Given the description of an element on the screen output the (x, y) to click on. 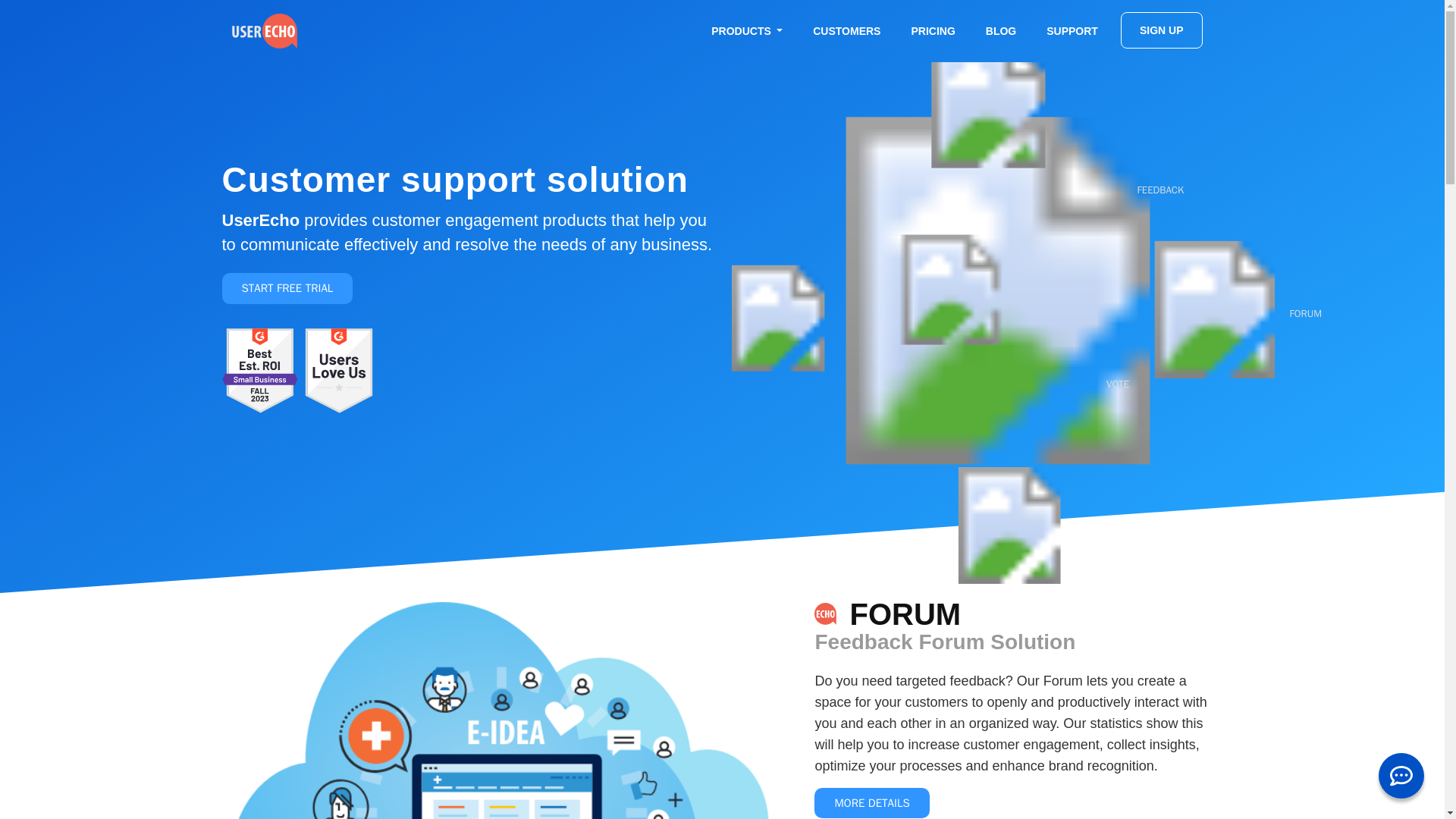
SIGN UP (1161, 30)
Users love UserEcho on G2 (339, 369)
UserEcho is a leader in Small-Business Help Desk on G2 (259, 369)
CUSTOMERS (846, 30)
PRODUCTS (746, 30)
MORE DETAILS (870, 803)
PRICING (932, 30)
START FREE TRIAL (286, 287)
SUPPORT (1071, 30)
BLOG (1000, 30)
